Given the description of an element on the screen output the (x, y) to click on. 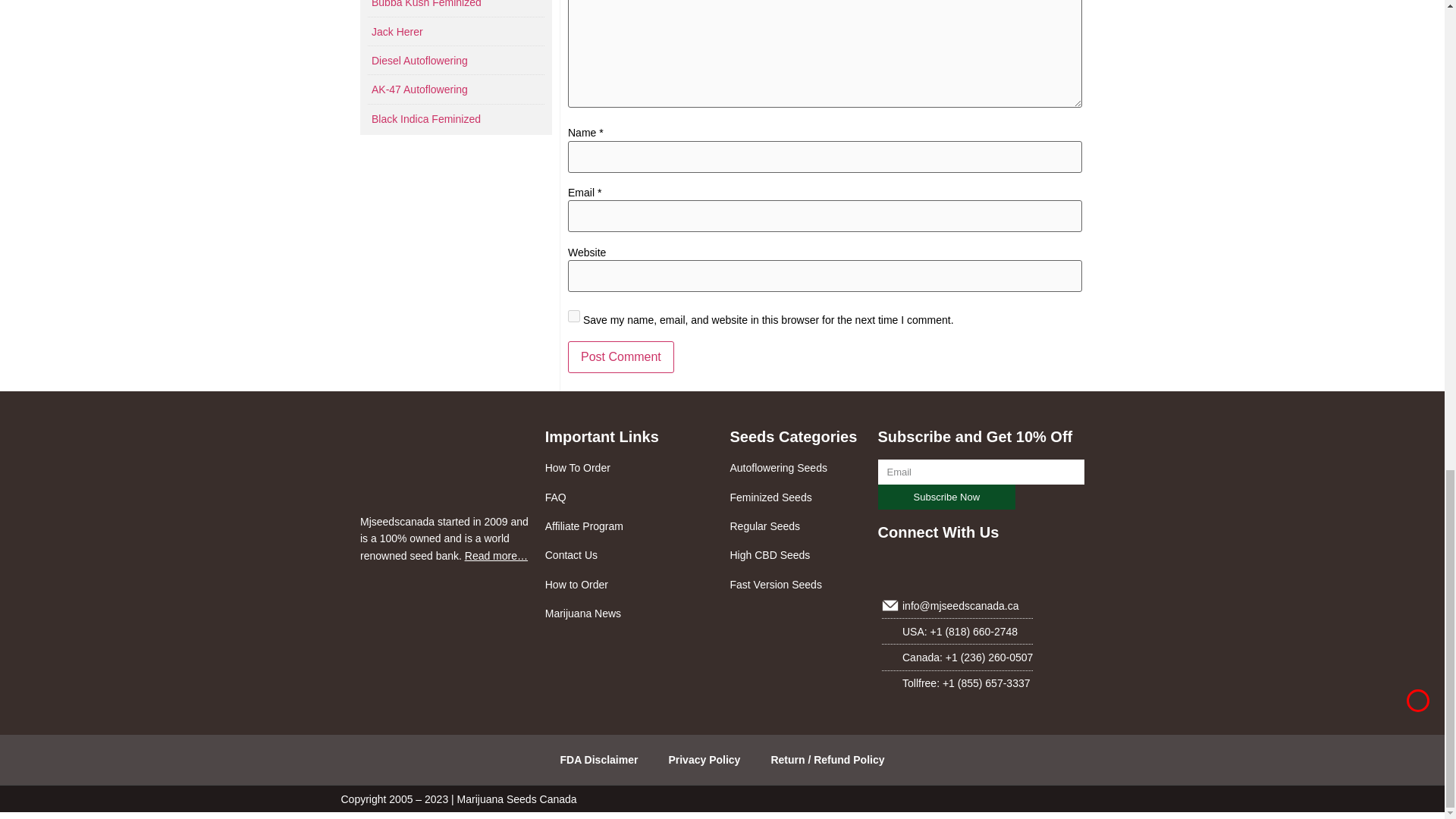
yes (573, 316)
Post Comment (620, 357)
asseenin (444, 600)
mjseedsca-logo-footer (419, 465)
